Given the description of an element on the screen output the (x, y) to click on. 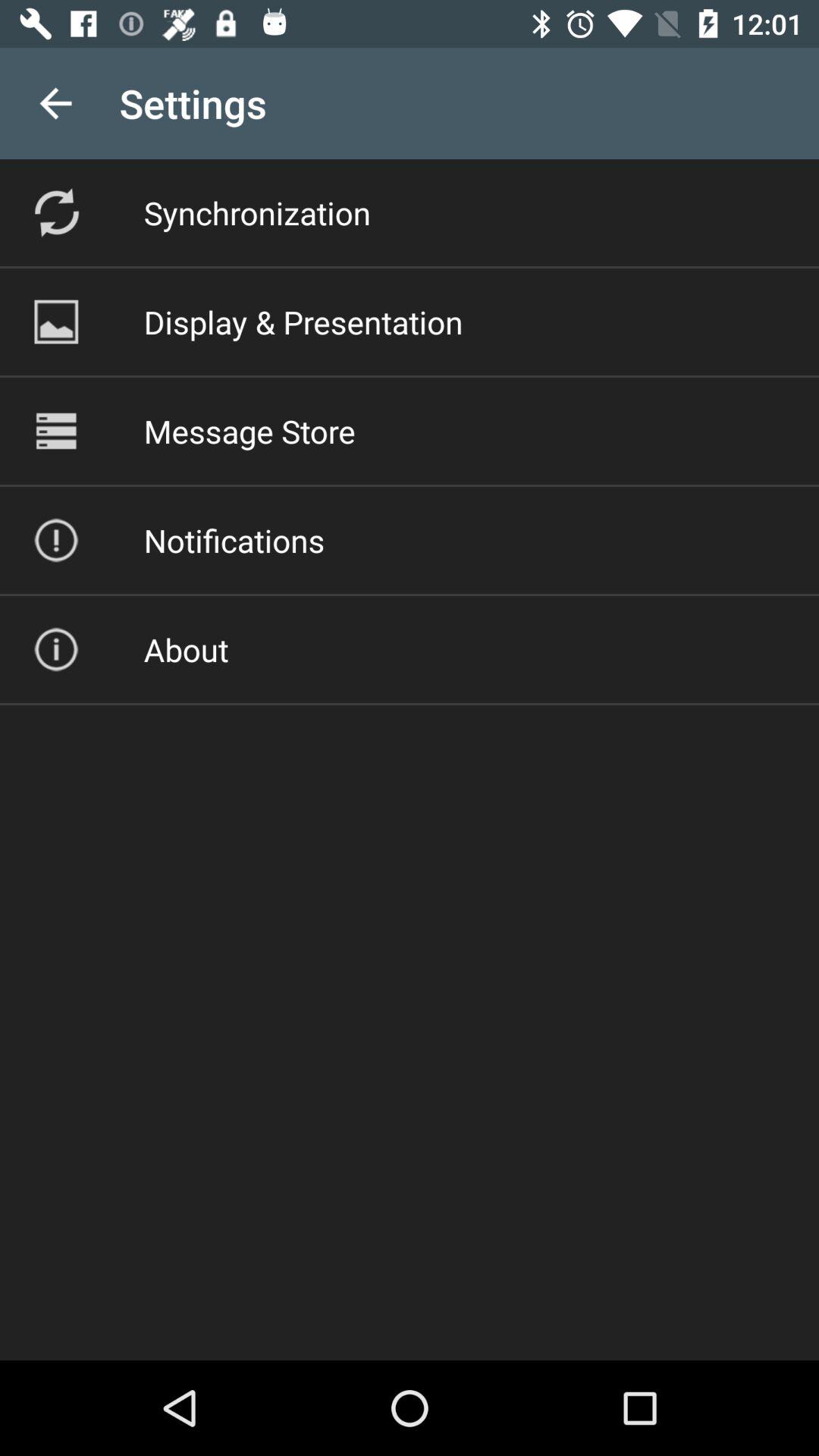
flip to notifications (233, 539)
